Given the description of an element on the screen output the (x, y) to click on. 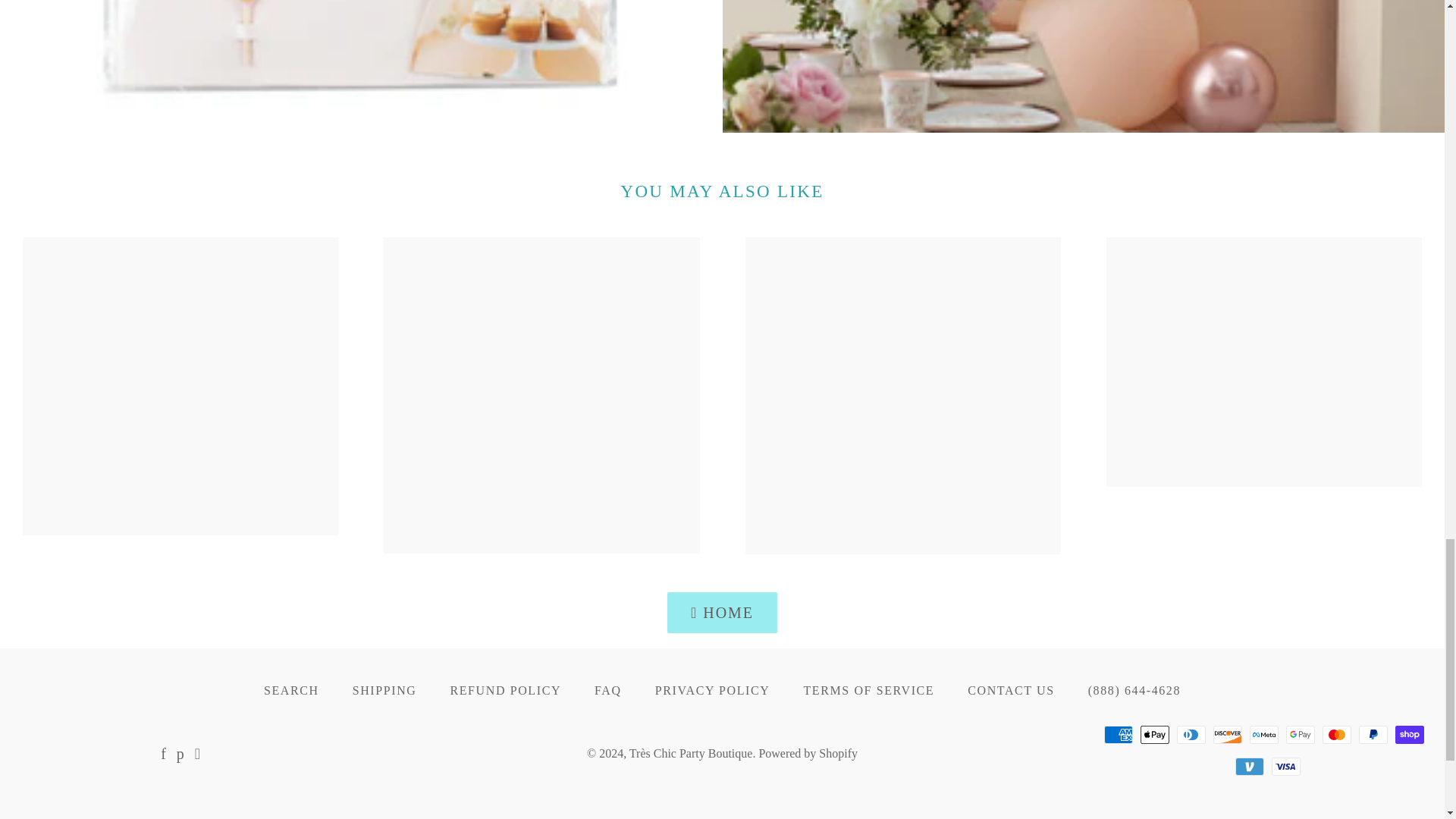
Apple Pay (1154, 734)
Diners Club (1190, 734)
American Express (1117, 734)
Discover (1226, 734)
Mastercard (1336, 734)
Venmo (1248, 765)
Visa (1285, 765)
Shop Pay (1408, 734)
Google Pay (1299, 734)
PayPal (1372, 734)
Meta Pay (1263, 734)
